Given the description of an element on the screen output the (x, y) to click on. 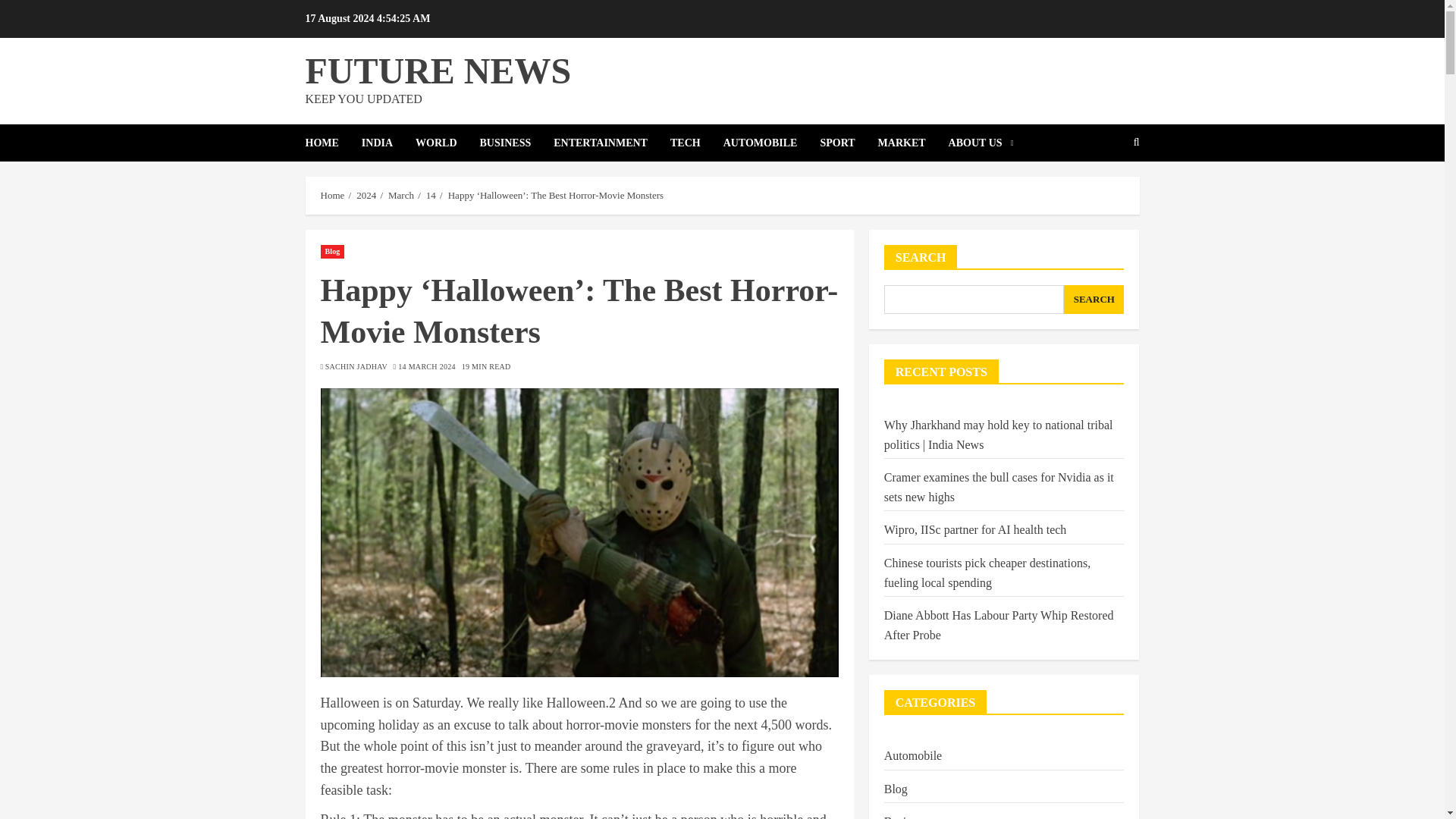
BUSINESS (517, 142)
HOME (332, 142)
MARKET (913, 142)
14 MARCH 2024 (426, 366)
2024 (365, 195)
SPORT (848, 142)
ENTERTAINMENT (611, 142)
Home (331, 195)
Blog (331, 251)
ABOUT US (981, 142)
